Given the description of an element on the screen output the (x, y) to click on. 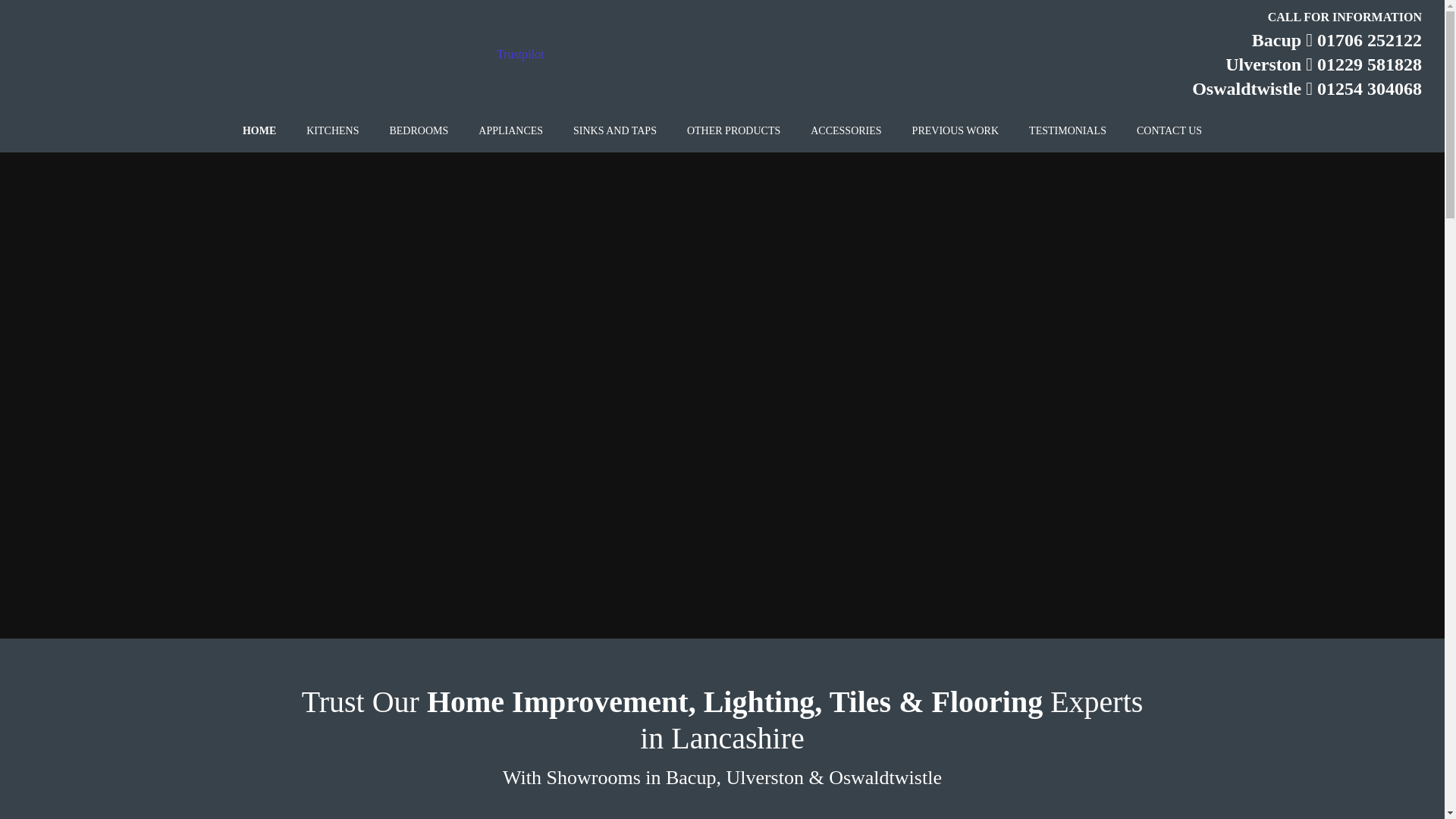
BEDROOMS (418, 131)
CONTACT US (1169, 131)
HOME (259, 131)
Trustpilot (520, 53)
SINKS AND TAPS (614, 131)
TESTIMONIALS (1067, 131)
KITCHENS (332, 131)
APPLIANCES (510, 131)
PREVIOUS WORK (954, 131)
ACCESSORIES (845, 131)
OTHER PRODUCTS (732, 131)
